Given the description of an element on the screen output the (x, y) to click on. 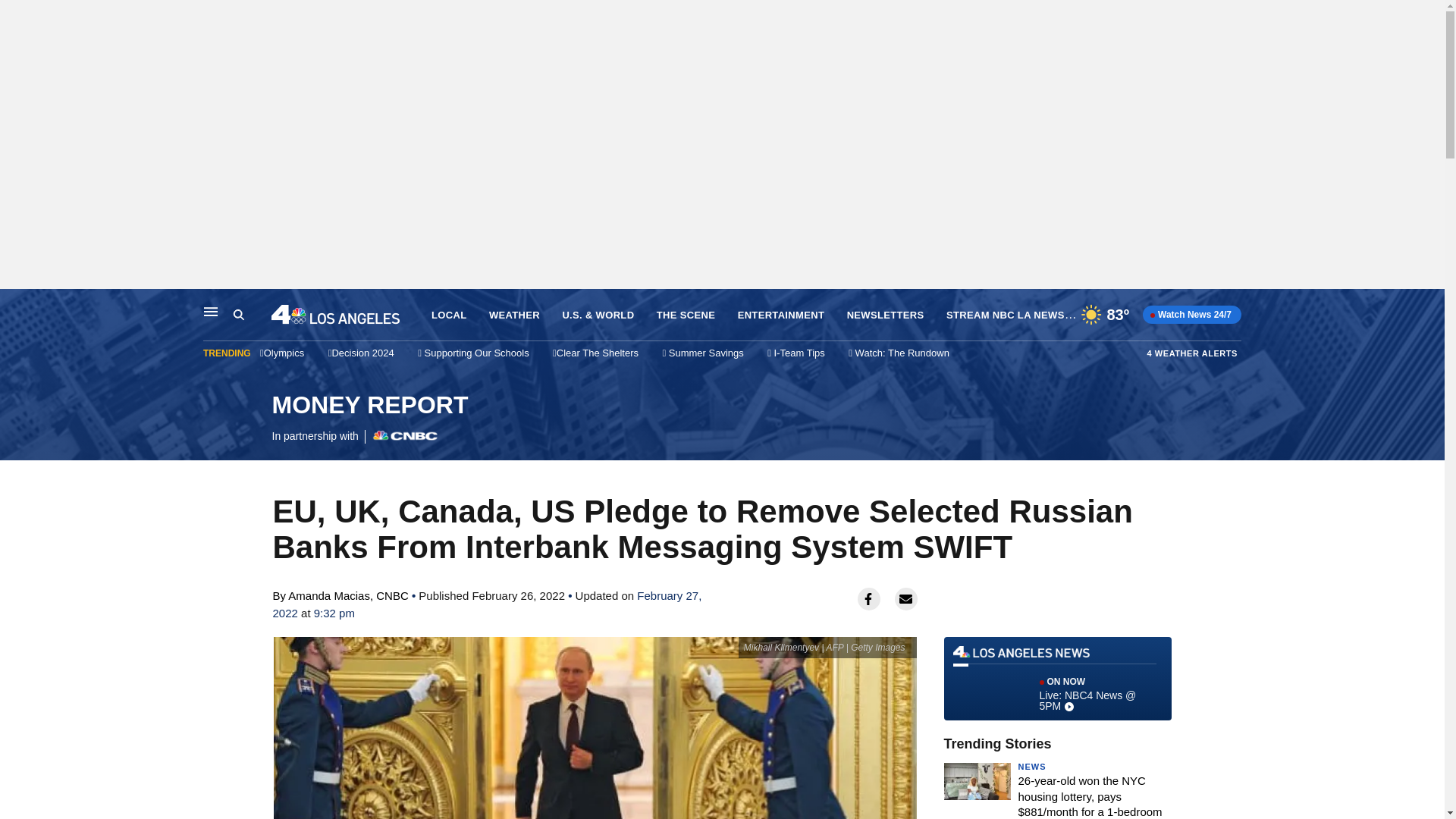
ENTERTAINMENT (781, 315)
4 WEATHER ALERTS (1192, 352)
Search (252, 314)
NEWSLETTERS (885, 315)
Search (238, 314)
Main Navigation (210, 311)
LOCAL (447, 315)
Skip to content (16, 304)
THE SCENE (685, 315)
WEATHER (368, 418)
